Given the description of an element on the screen output the (x, y) to click on. 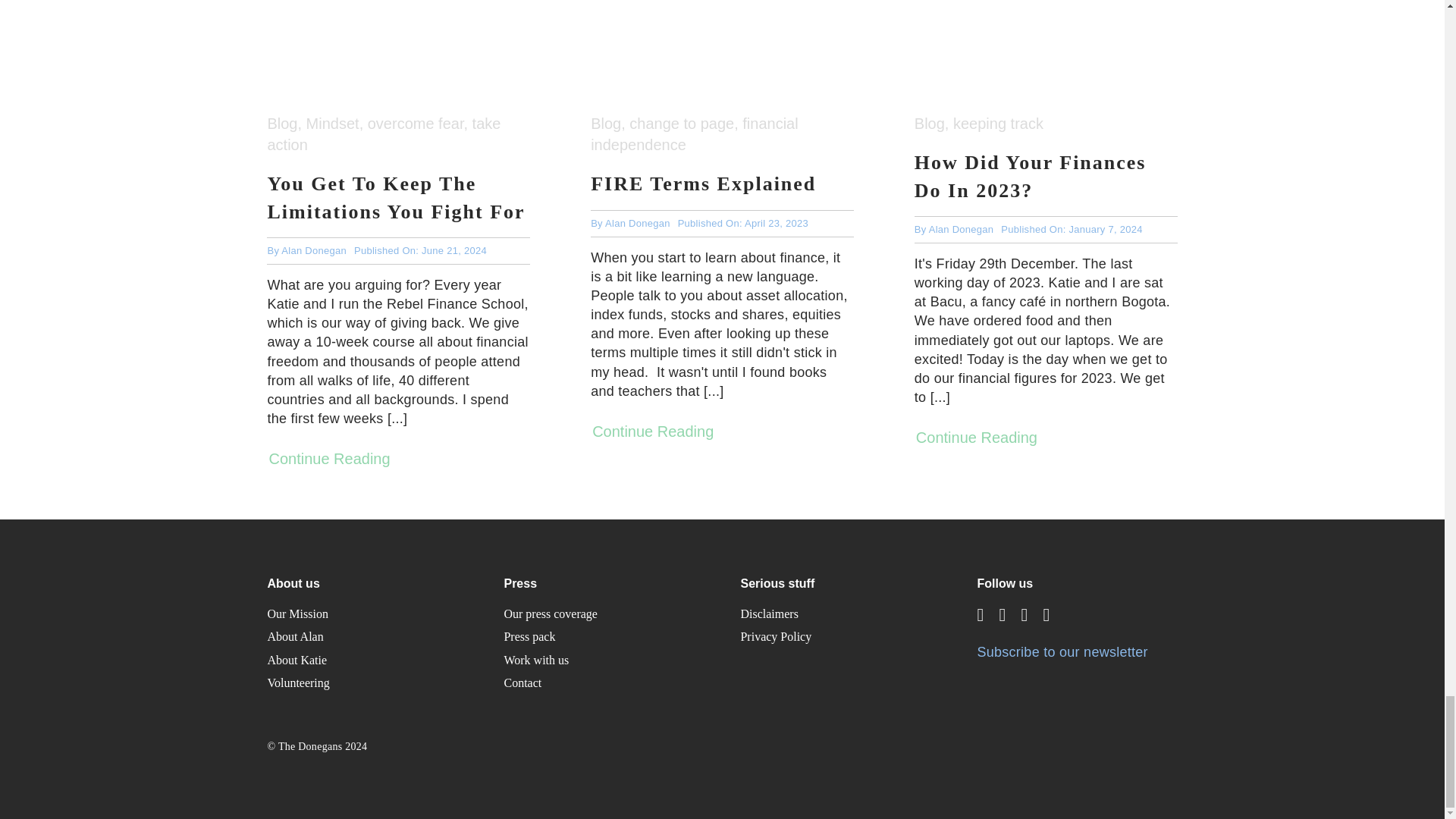
Posts by Alan Donegan (637, 223)
Posts by Alan Donegan (961, 229)
Posts by Alan Donegan (313, 250)
